Given the description of an element on the screen output the (x, y) to click on. 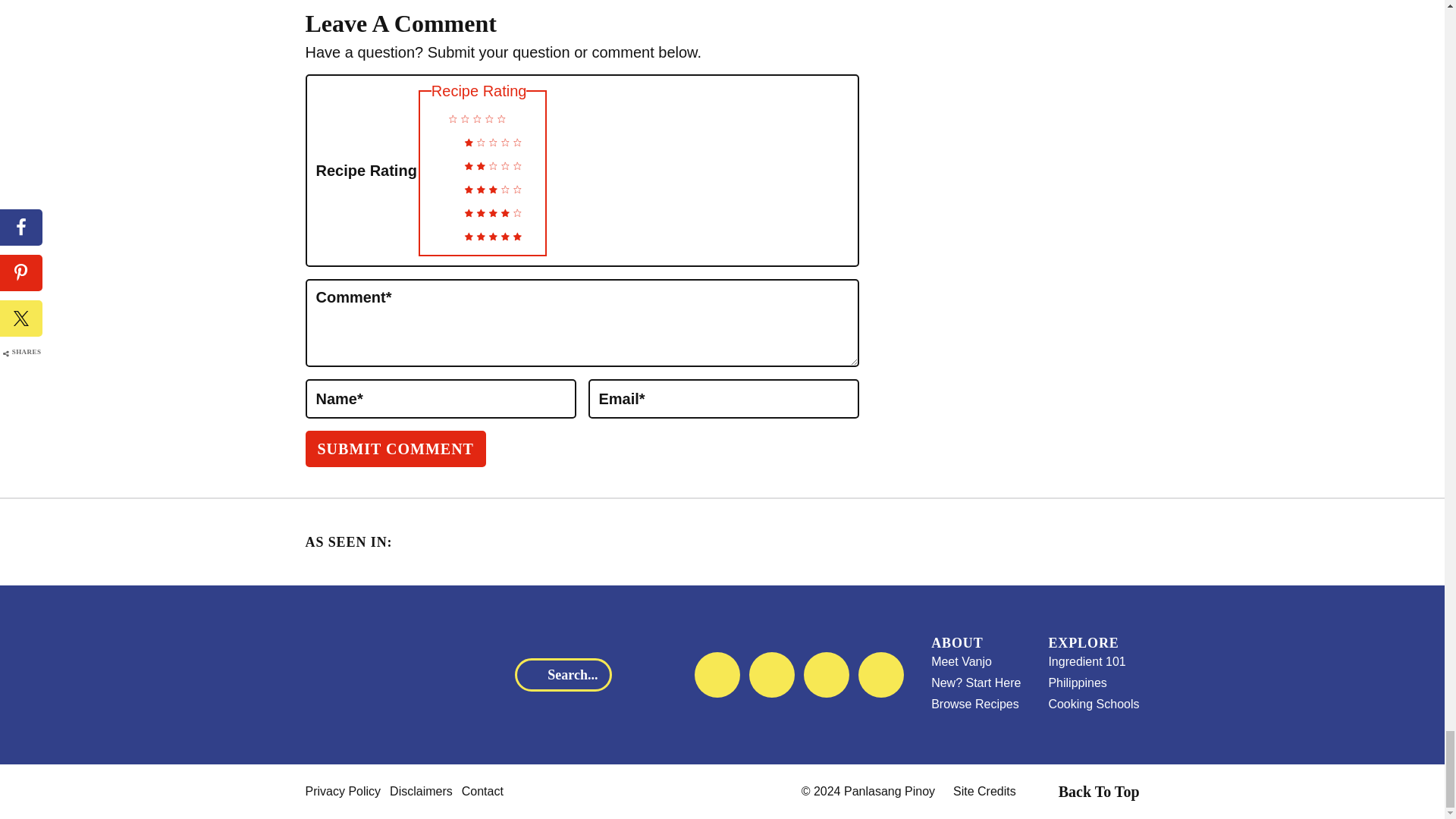
3 (441, 184)
5 (441, 231)
2 (441, 160)
4 (441, 208)
1 (441, 137)
0 (425, 114)
